Given the description of an element on the screen output the (x, y) to click on. 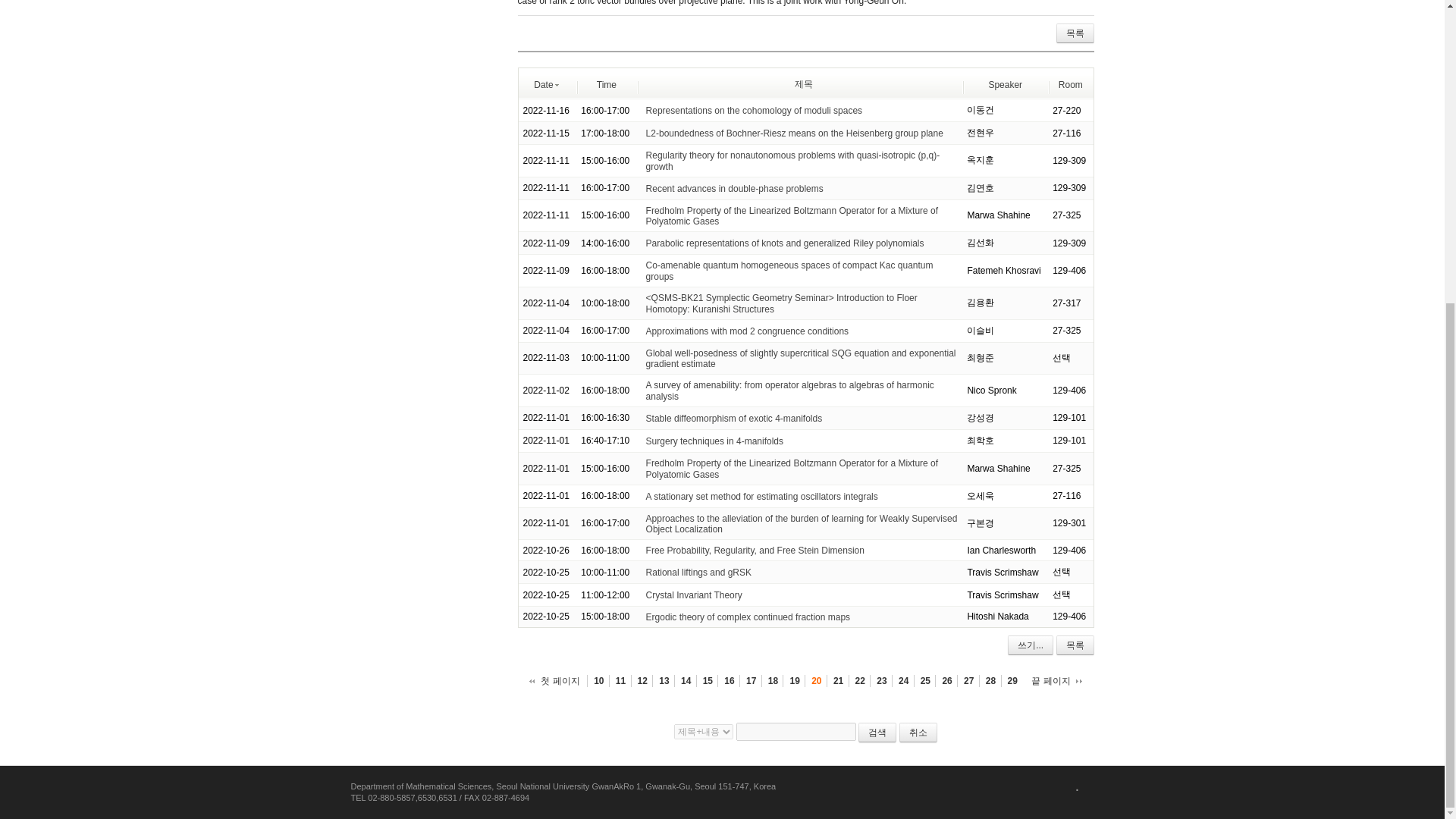
Representations on the cohomology of moduli spaces (754, 110)
Date (547, 83)
Room (1070, 83)
Speaker (1005, 83)
Time (605, 83)
Recent advances in double-phase problems (735, 188)
